Given the description of an element on the screen output the (x, y) to click on. 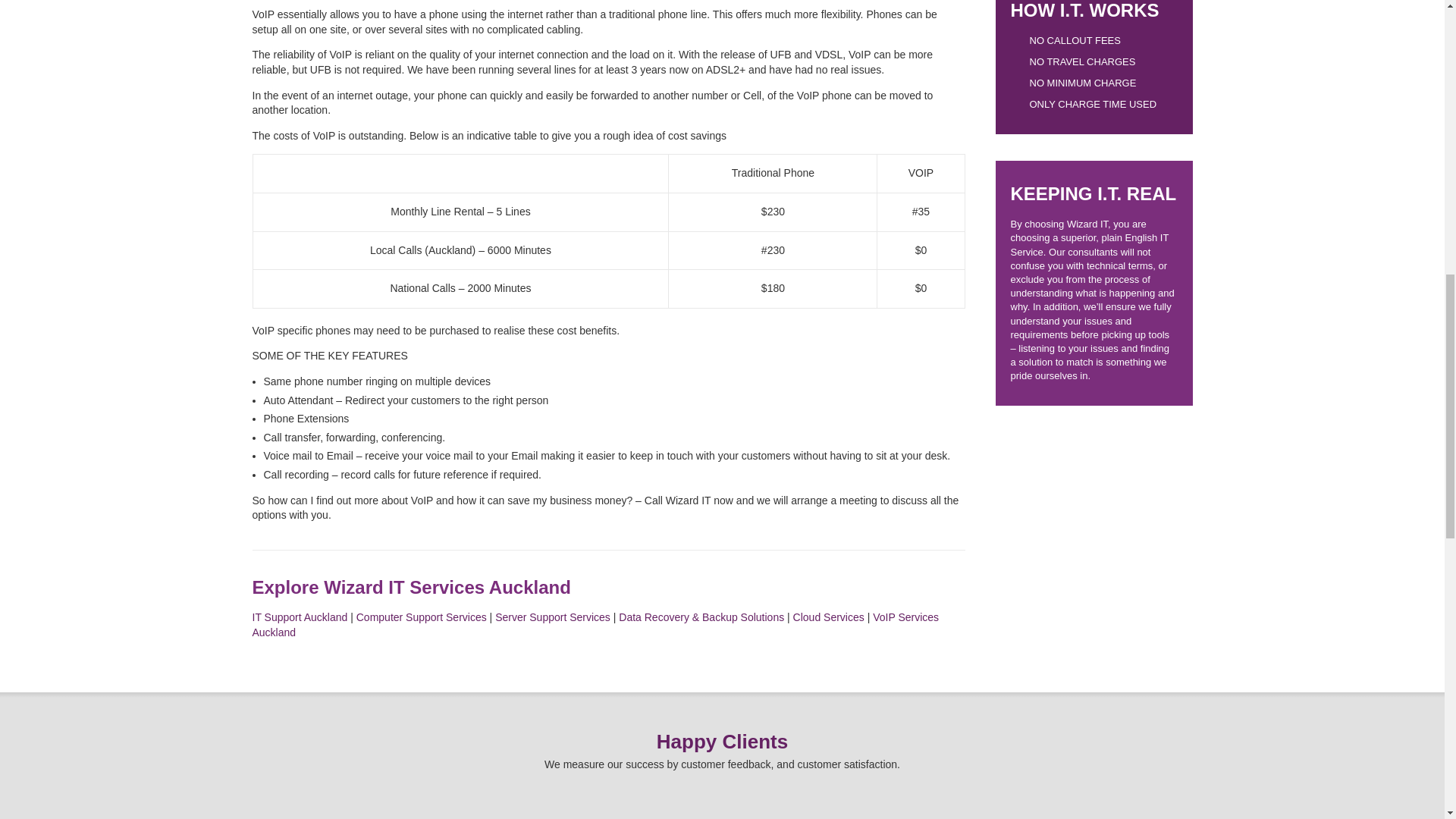
Cloud Services Auckland (828, 616)
Server Support Services Auckland (552, 616)
IT Support Auckland (299, 616)
Data Recovery and Backup Solution (701, 616)
IT Support Services Auckland (299, 616)
VoIP Services Auckland (595, 624)
Computer Support Services Auckland (421, 616)
Cloud Services (828, 616)
Server Support Services (552, 616)
Computer Support Services (421, 616)
VoIP Services Auckland (595, 624)
